Given the description of an element on the screen output the (x, y) to click on. 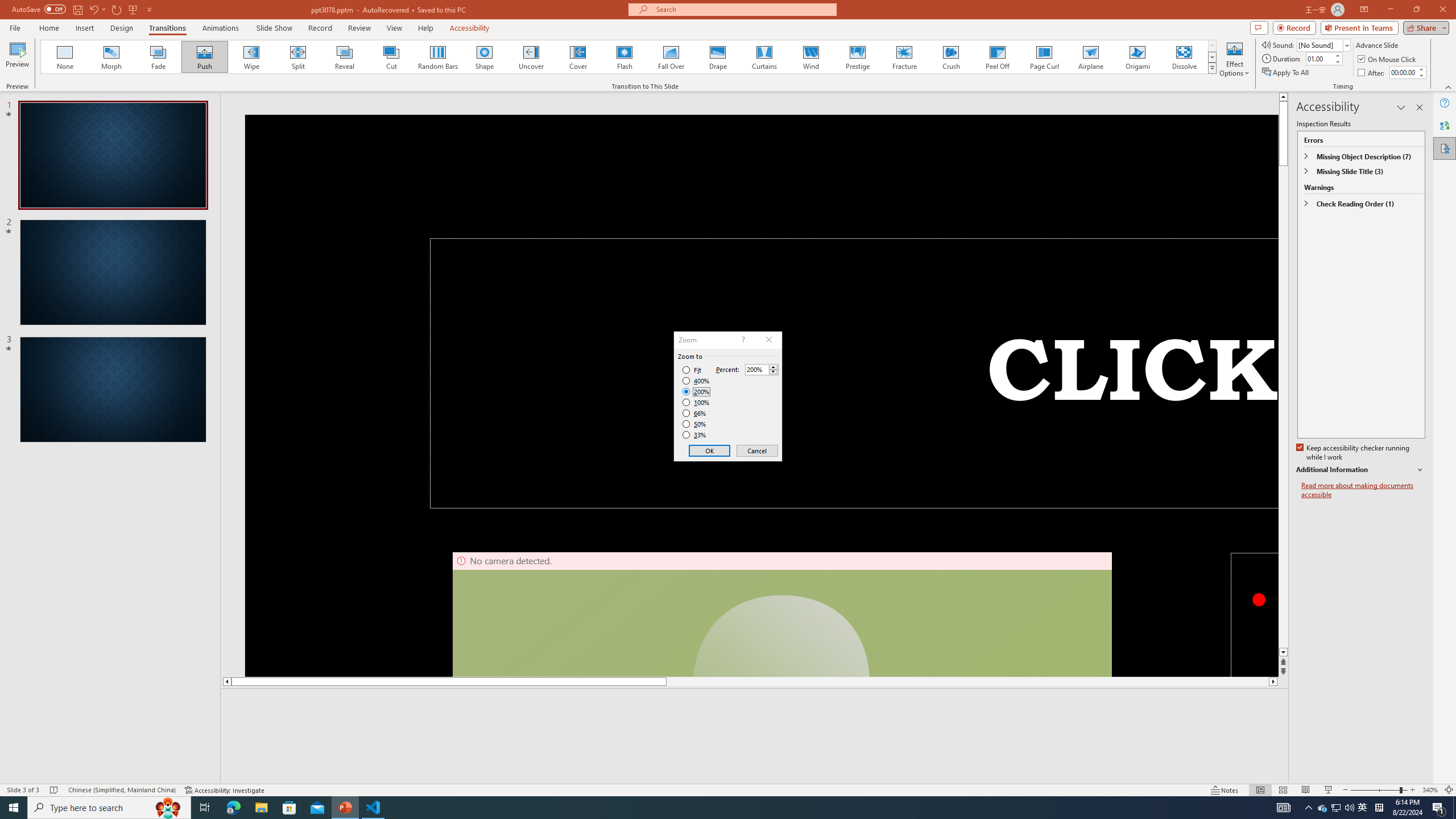
Duration (1319, 58)
Percent (756, 369)
